Given the description of an element on the screen output the (x, y) to click on. 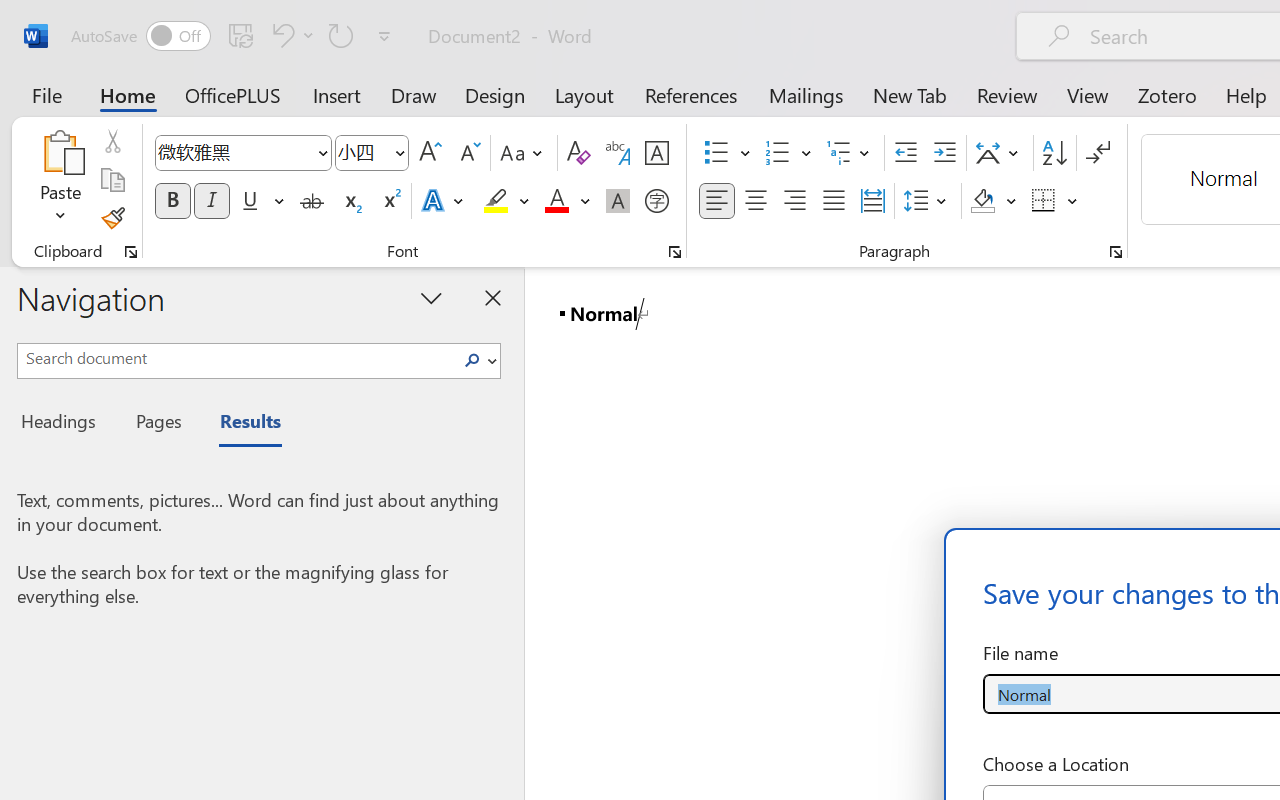
Class: NetUIImage (471, 360)
Search (471, 360)
Borders (1055, 201)
Increase Indent (944, 153)
Design (495, 94)
Asian Layout (1000, 153)
Character Border (656, 153)
Distributed (872, 201)
Save (241, 35)
Format Painter (112, 218)
Pages (156, 424)
Draw (413, 94)
Home (127, 94)
Underline (261, 201)
